Given the description of an element on the screen output the (x, y) to click on. 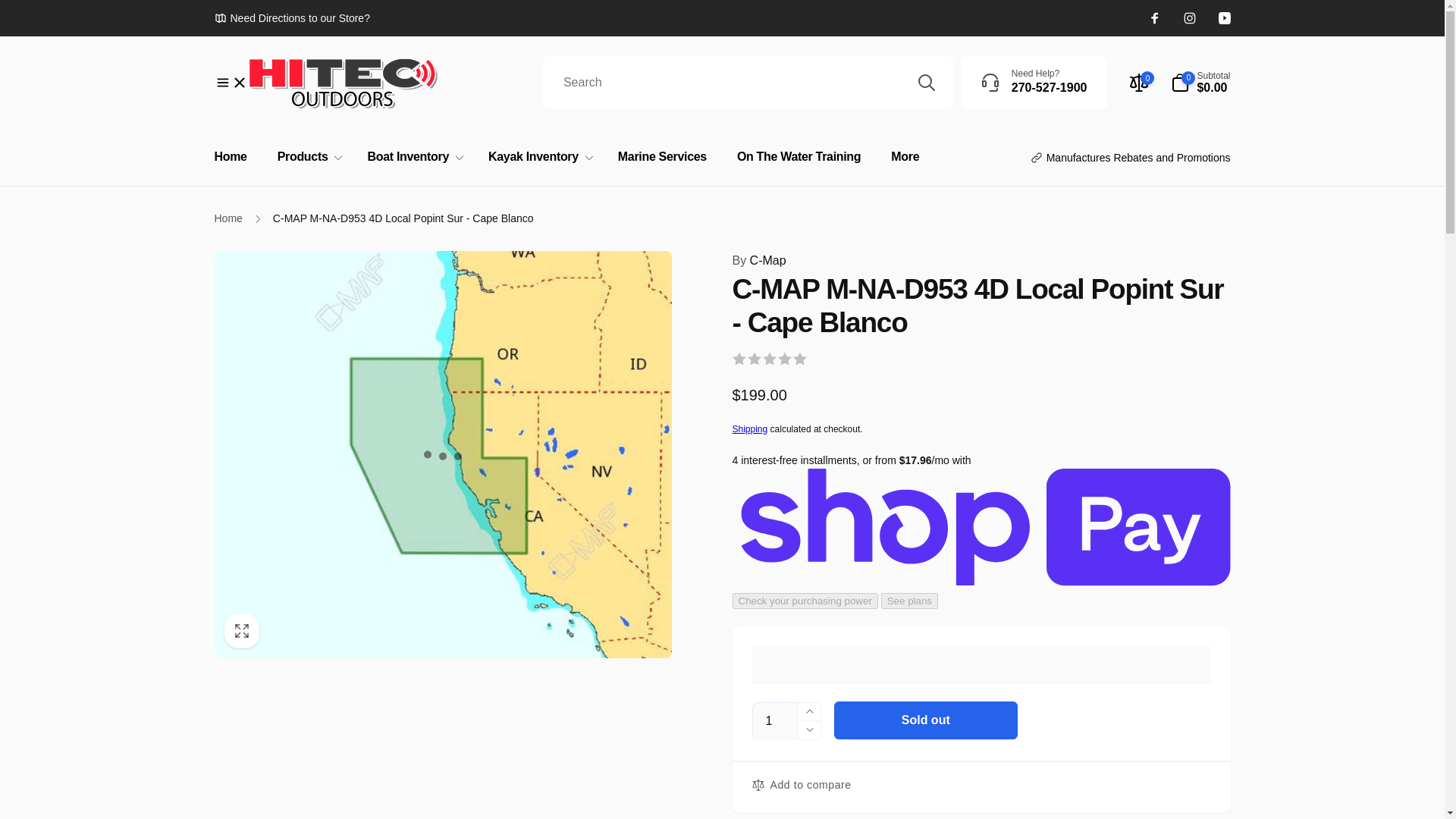
1 (774, 720)
Instagram (1188, 18)
YouTube (1223, 18)
Facebook (1154, 18)
Need Directions to our Store? (291, 17)
Skip to content (1034, 82)
